Given the description of an element on the screen output the (x, y) to click on. 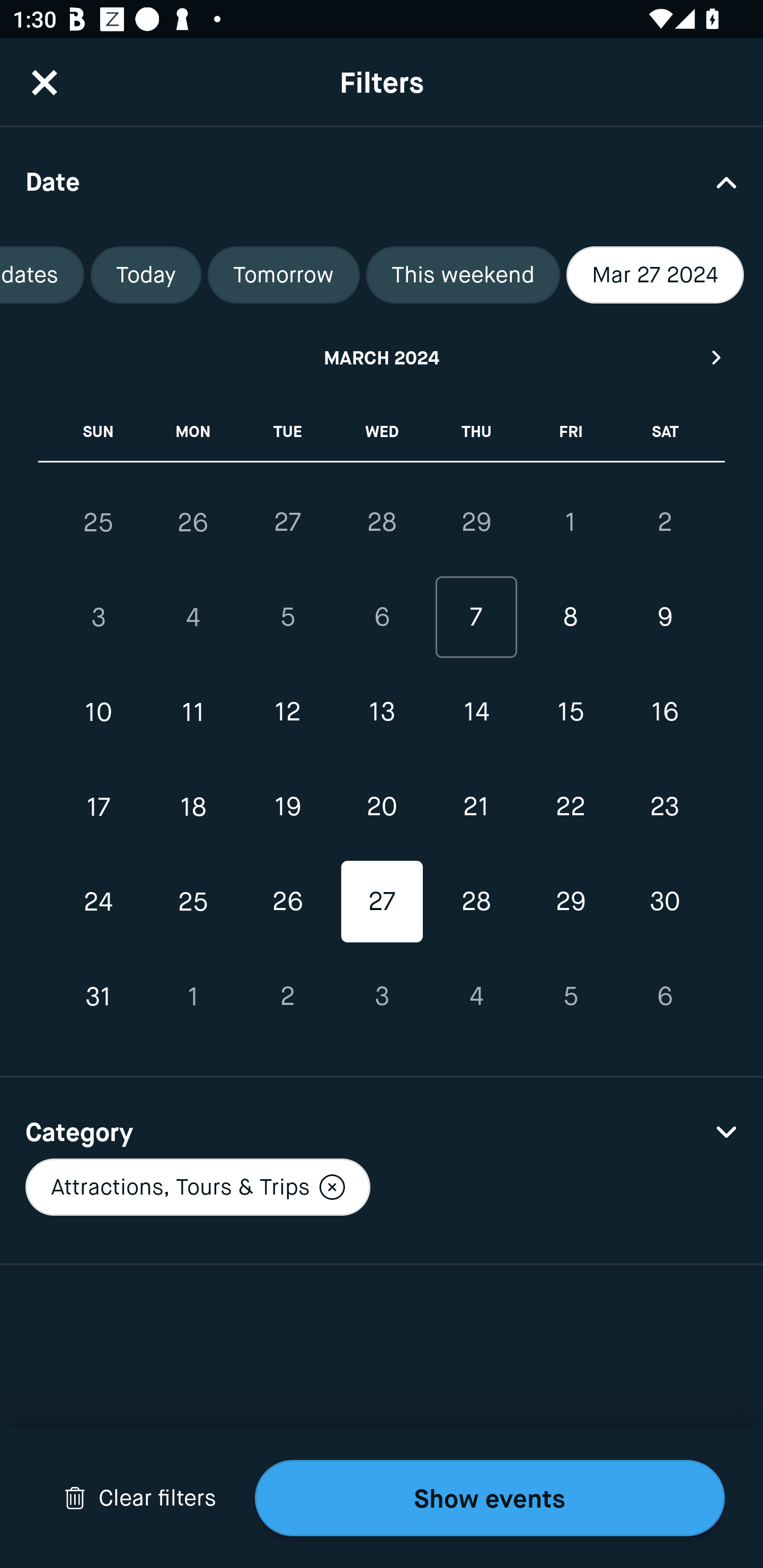
CloseButton (44, 82)
Date Drop Down Arrow (381, 181)
Today (145, 274)
Tomorrow (283, 274)
This weekend (463, 274)
Mar 27 2024 (654, 274)
Next (717, 357)
25 (98, 522)
26 (192, 522)
27 (287, 522)
28 (381, 522)
29 (475, 522)
1 (570, 522)
2 (664, 522)
3 (98, 617)
4 (192, 617)
5 (287, 617)
6 (381, 617)
7 (475, 617)
8 (570, 617)
9 (664, 617)
10 (98, 711)
11 (192, 711)
12 (287, 711)
13 (381, 711)
14 (475, 711)
15 (570, 711)
16 (664, 711)
17 (98, 806)
18 (192, 806)
19 (287, 806)
20 (381, 806)
21 (475, 806)
22 (570, 806)
23 (664, 806)
24 (98, 901)
25 (192, 901)
26 (287, 901)
27 (381, 901)
28 (475, 901)
29 (570, 901)
30 (664, 901)
31 (98, 996)
1 (192, 996)
2 (287, 996)
3 (381, 996)
4 (475, 996)
5 (570, 996)
6 (664, 996)
Attractions, Tours & Trips Localized description (197, 1186)
Drop Down Arrow Clear filters (139, 1497)
Show events (489, 1497)
